Given the description of an element on the screen output the (x, y) to click on. 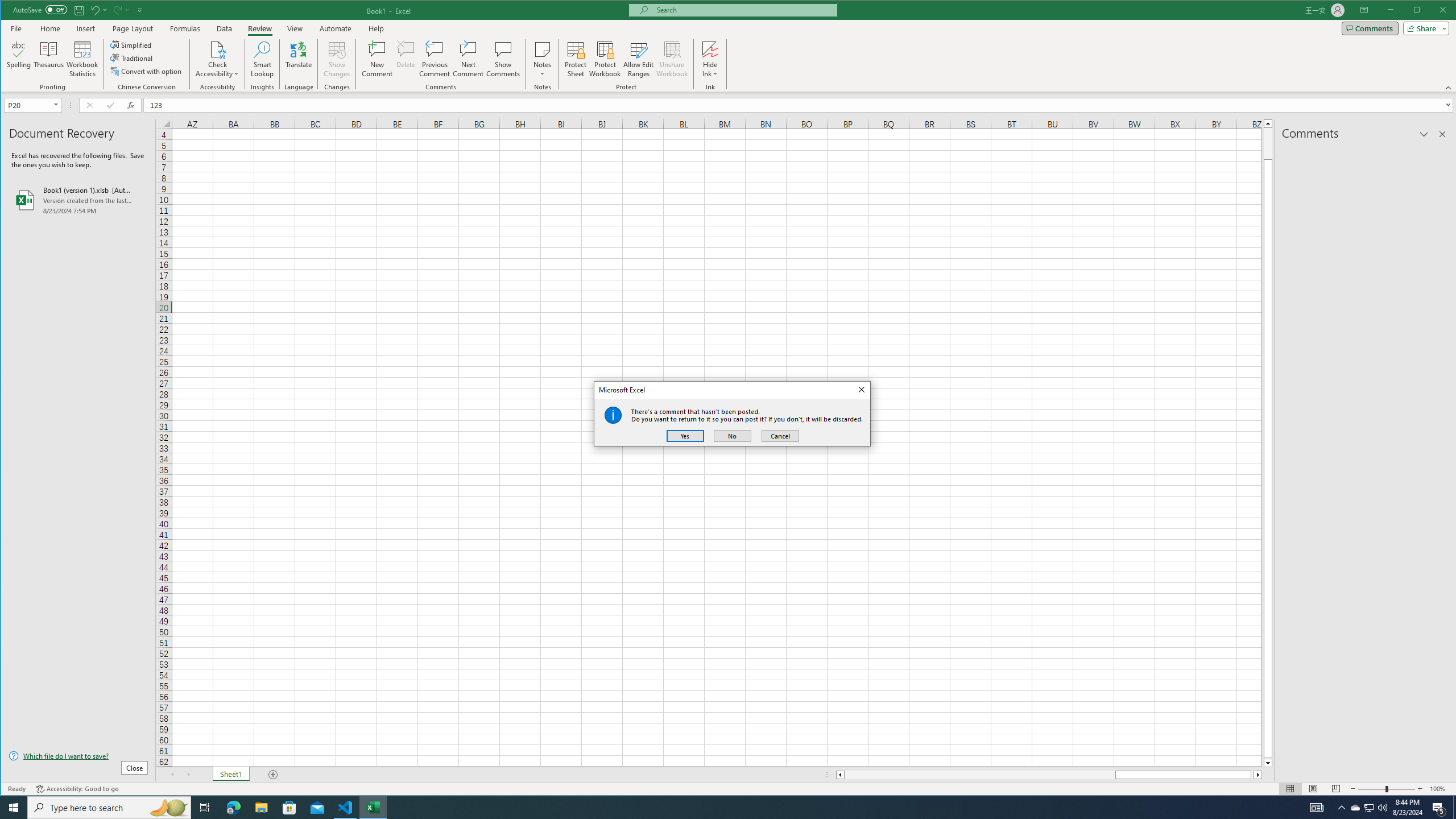
Hide Ink (710, 48)
Show Comments (502, 59)
AutomationID: 4105 (1316, 807)
Next Comment (467, 59)
Workbook Statistics (82, 59)
File Explorer (261, 807)
Notification Chevron (1341, 807)
